Given the description of an element on the screen output the (x, y) to click on. 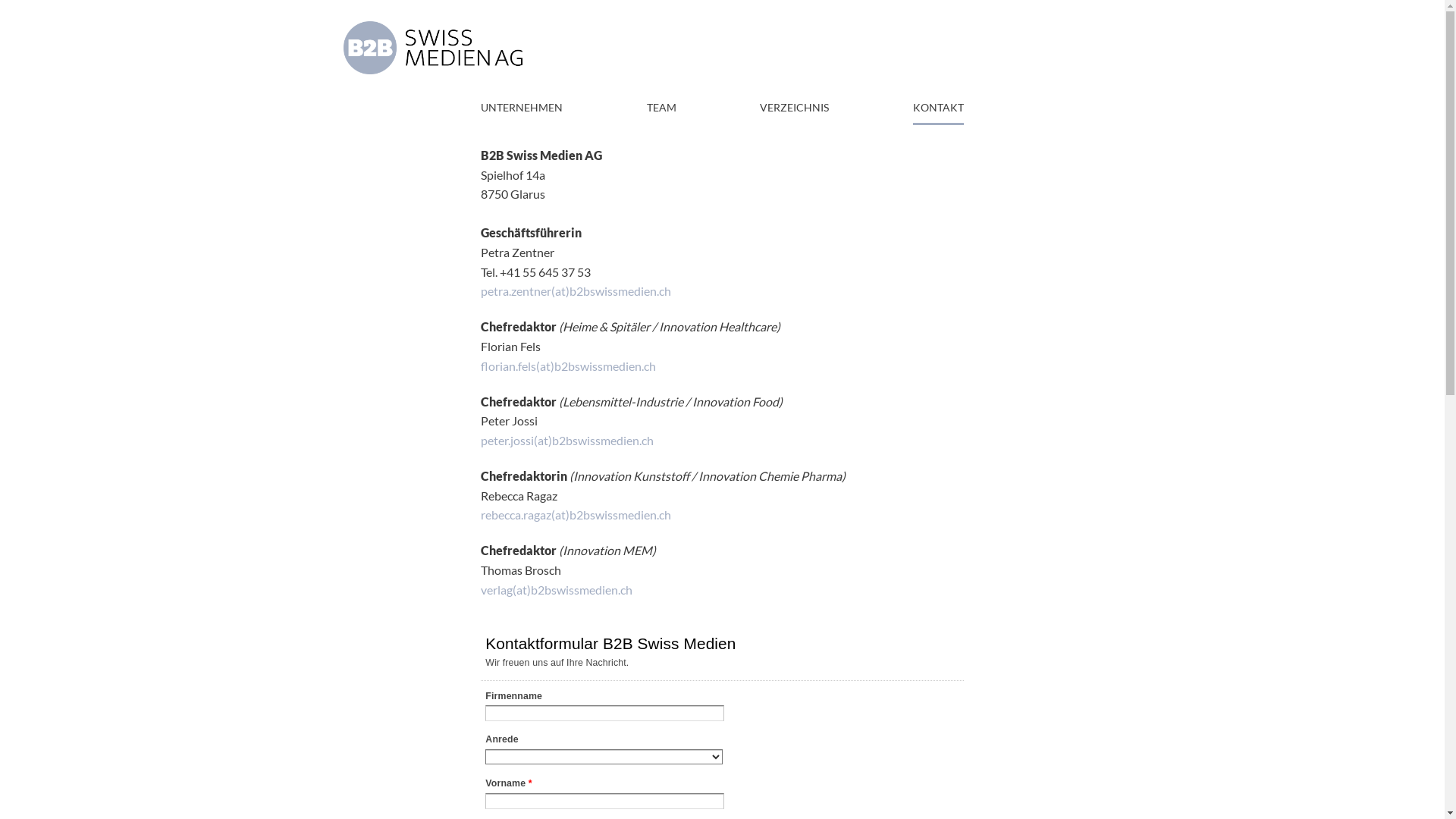
VERZEICHNIS Element type: text (793, 111)
TEAM Element type: text (661, 111)
KONTAKT Element type: text (938, 111)
petra.zentner(at)b2bswissmedien.ch Element type: text (575, 290)
rebecca.ragaz(at)b2bswissmedien.ch Element type: text (575, 514)
peter.jossi(at)b2bswissmedien.ch Element type: text (566, 440)
florian.fels(at)b2bswissmedien.ch Element type: text (567, 365)
verlag(at)b2bswissmedien.ch Element type: text (556, 589)
UNTERNEHMEN Element type: text (521, 111)
